Given the description of an element on the screen output the (x, y) to click on. 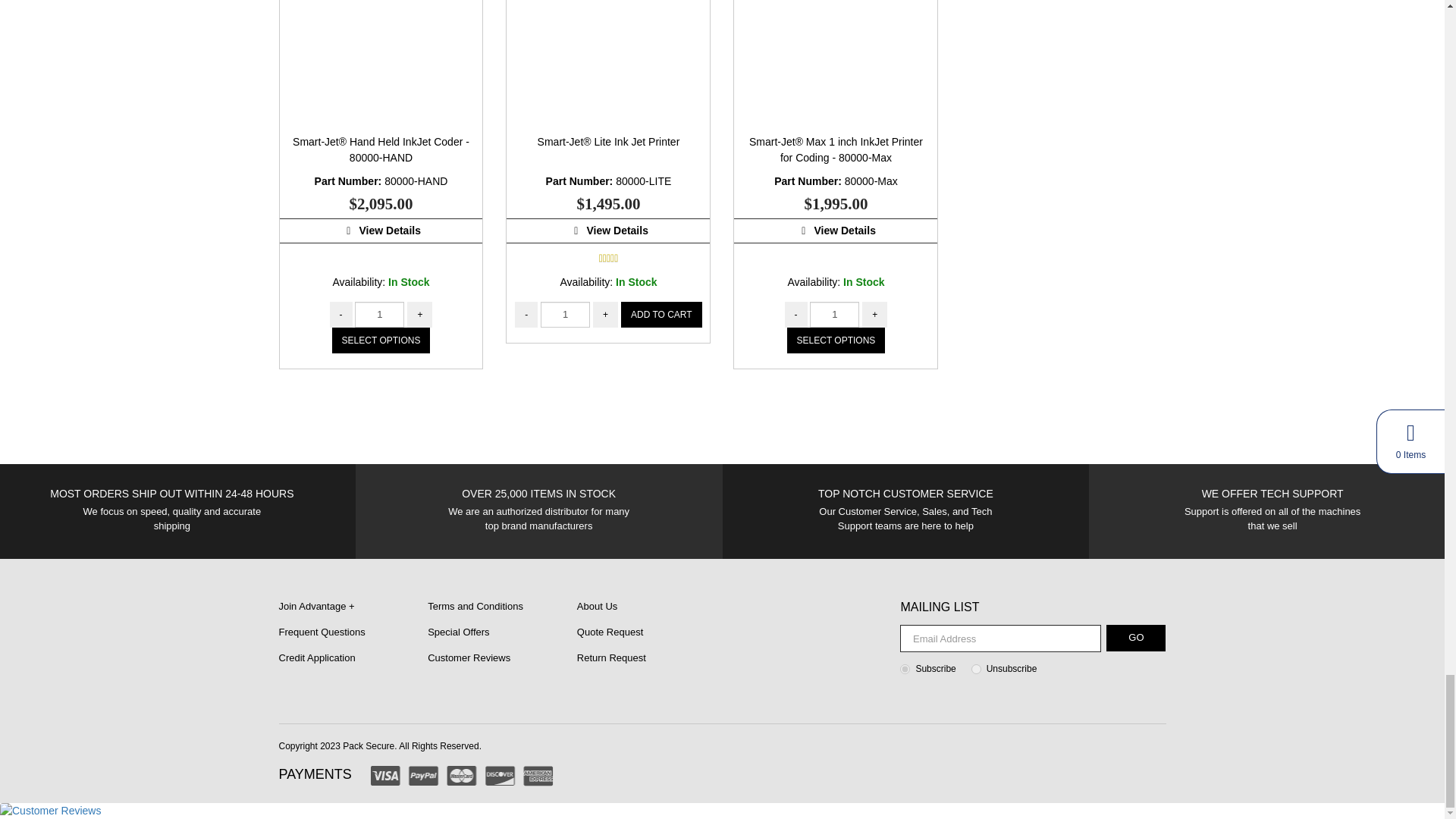
Mailing Submit (1136, 637)
1 (379, 313)
1 (564, 313)
1 (834, 313)
0 (976, 669)
1 (904, 669)
